Given the description of an element on the screen output the (x, y) to click on. 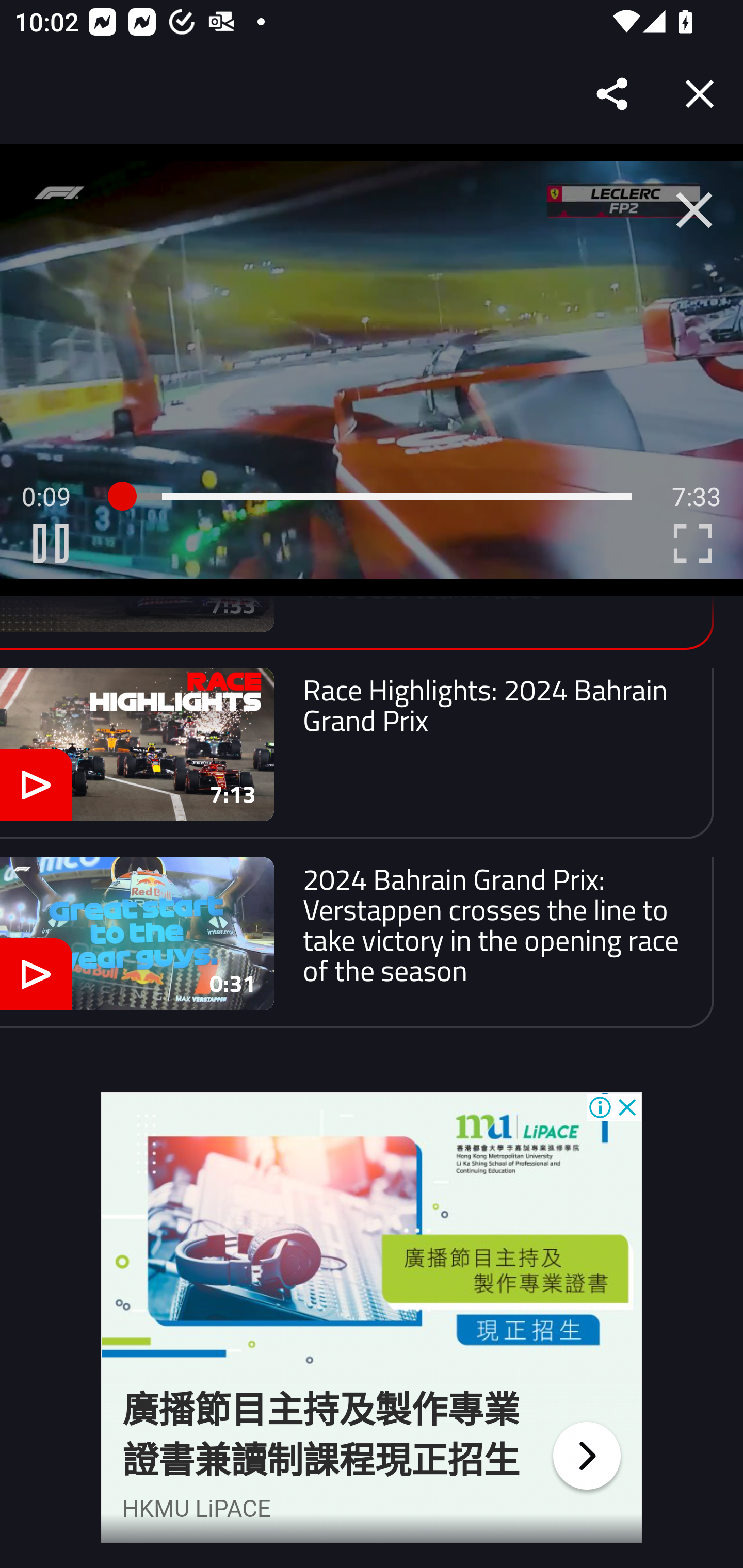
Share (612, 93)
Close (699, 93)
 Close (693, 210)
B Pause (50, 543)
C Enter Fullscreen (692, 543)
7:13 Race Highlights: 2024 Bahrain Grand Prix (357, 752)
%3Flce%3DGDN_B2023_01 (371, 1236)
廣播節目主持及製作專業 證書兼讀制課程現正招生 廣播節目主持及製作專業 證書兼讀制課程現正招生 (321, 1435)
%3Flce%3DGDN_B2023_01 (586, 1455)
HKMU LiPACE (196, 1508)
